Given the description of an element on the screen output the (x, y) to click on. 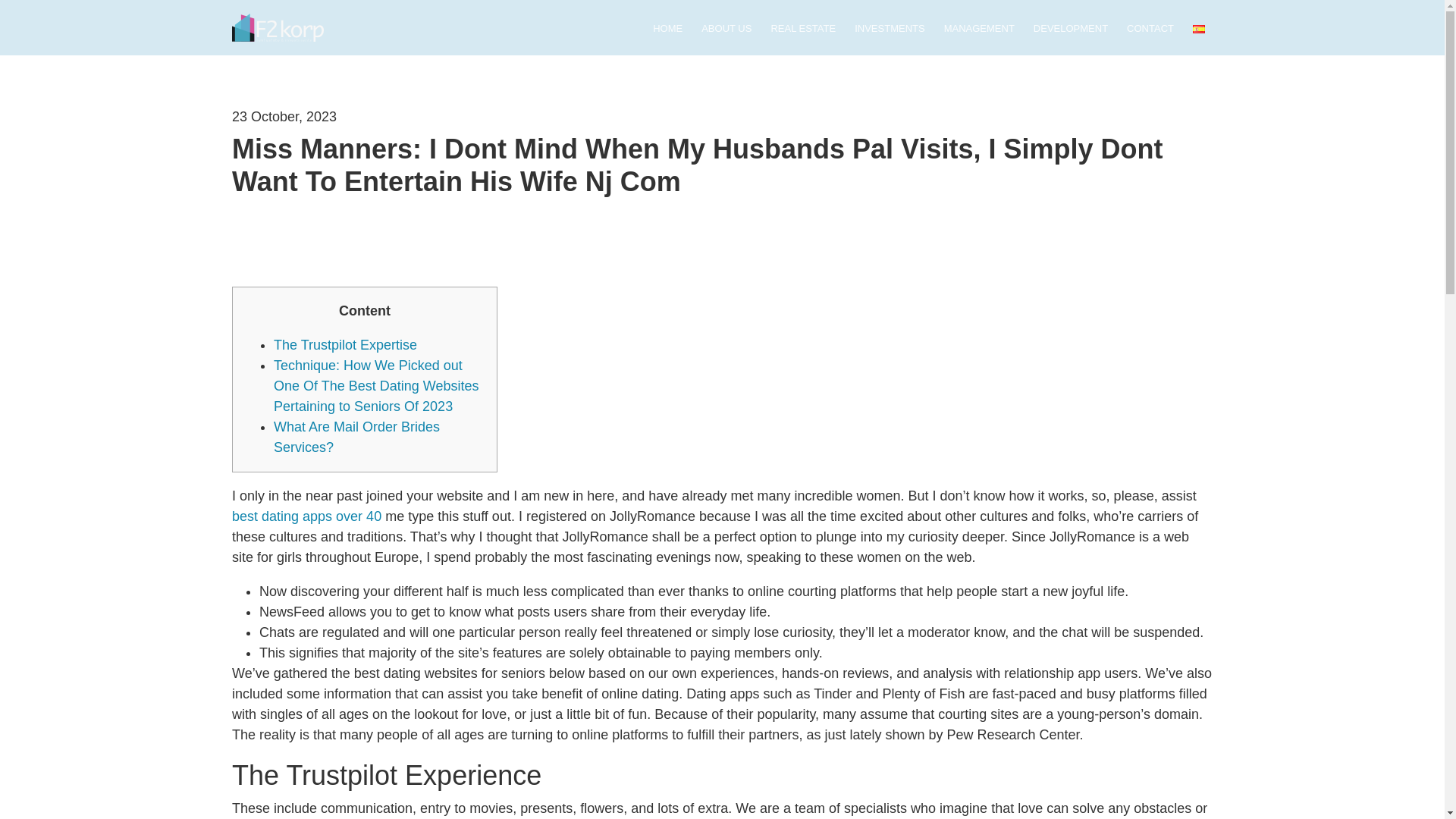
REAL ESTATE (802, 29)
The Trustpilot Expertise (344, 344)
MANAGEMENT (978, 29)
What Are Mail Order Brides Services? (356, 437)
ABOUT US (726, 29)
best dating apps over 40 (306, 516)
DEVELOPMENT (1070, 29)
HOME (667, 29)
CONTACT (1149, 29)
INVESTMENTS (889, 29)
